Given the description of an element on the screen output the (x, y) to click on. 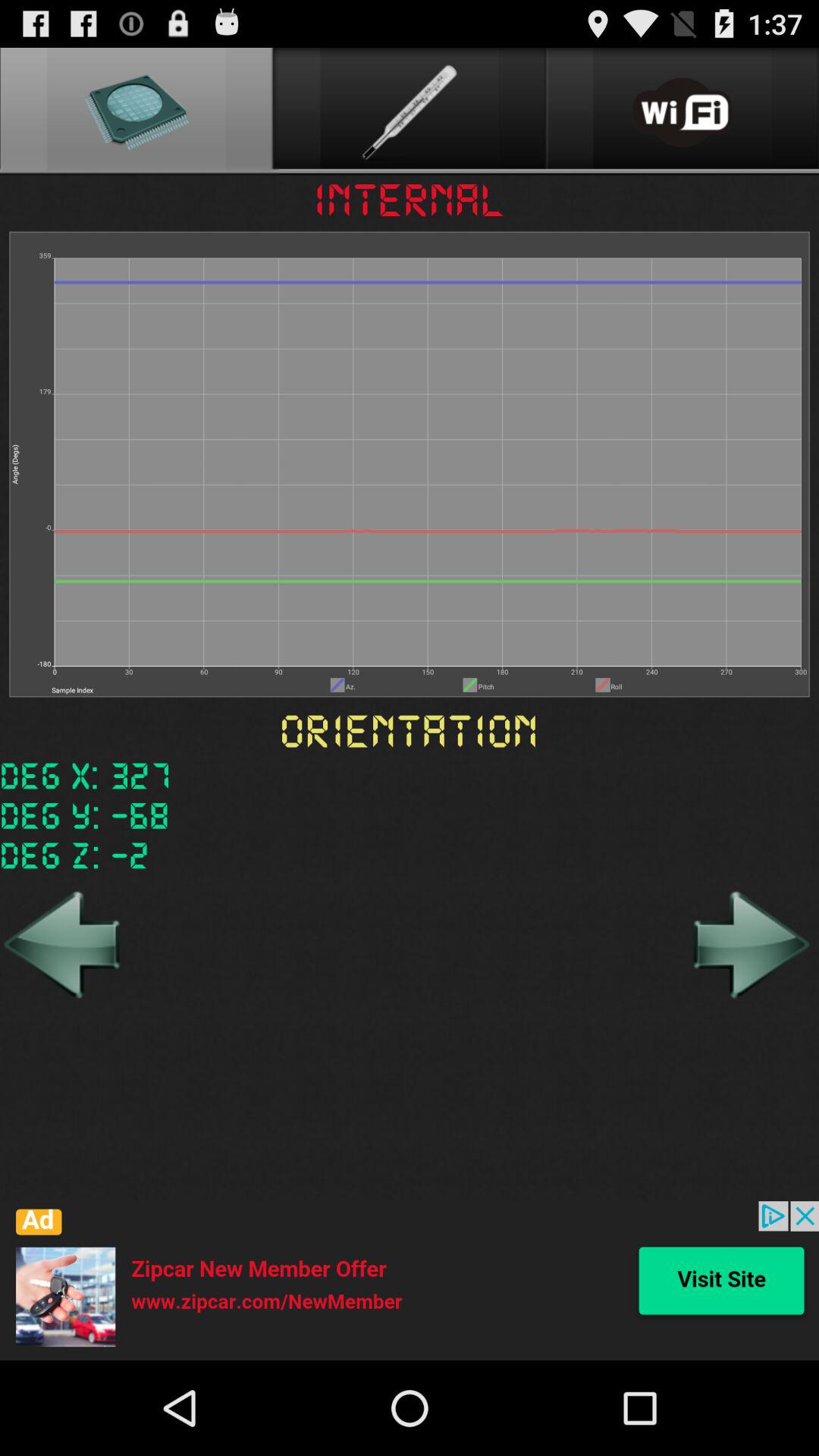
go next (749, 944)
